Given the description of an element on the screen output the (x, y) to click on. 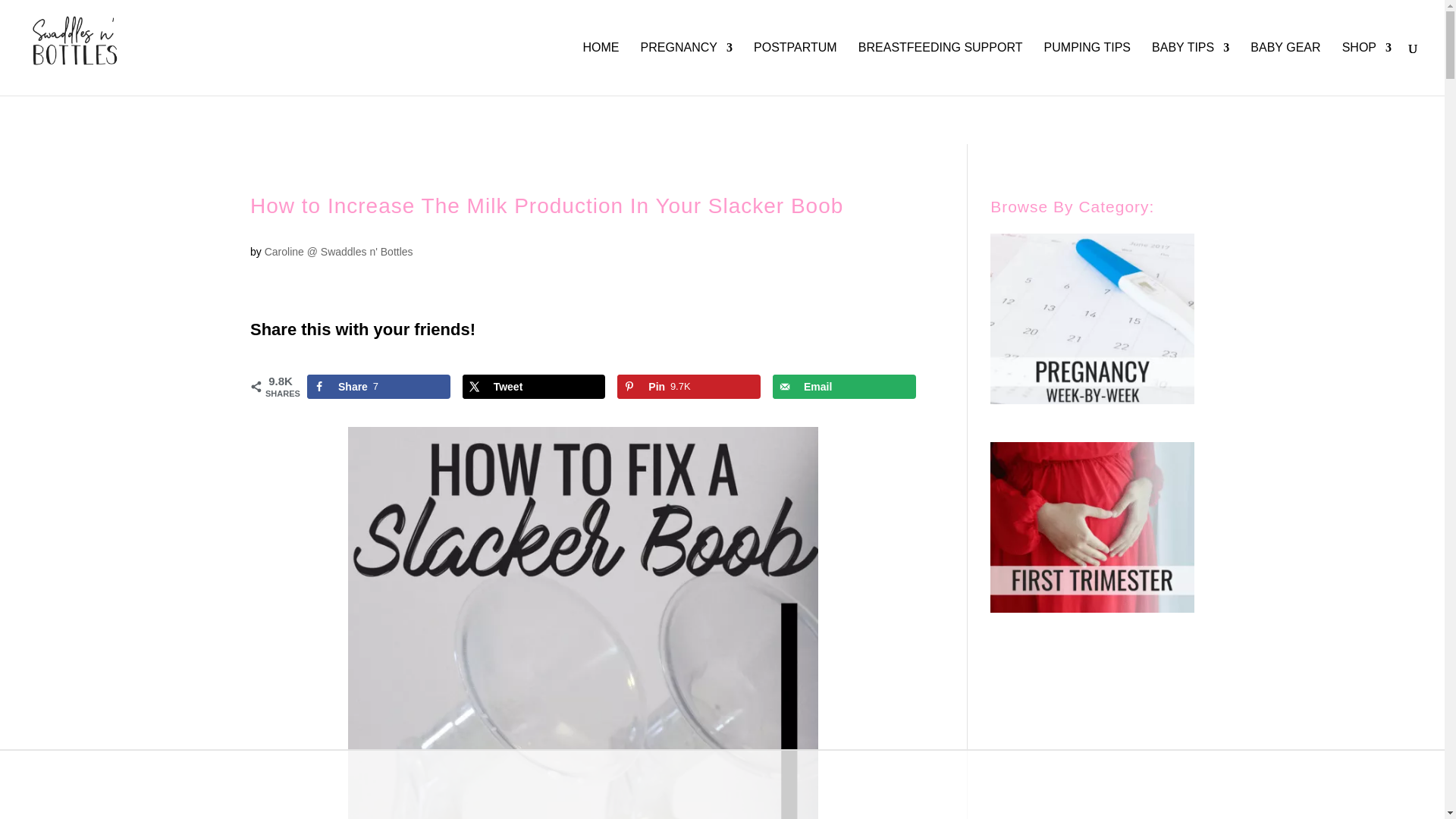
BREASTFEEDING SUPPORT (941, 68)
Tweet (534, 386)
SHOP (1366, 68)
BABY TIPS (1189, 68)
PUMPING TIPS (1087, 68)
Email (844, 386)
PREGNANCY (686, 68)
Share on X (534, 386)
Send over email (844, 386)
Share on Facebook (378, 386)
